Given the description of an element on the screen output the (x, y) to click on. 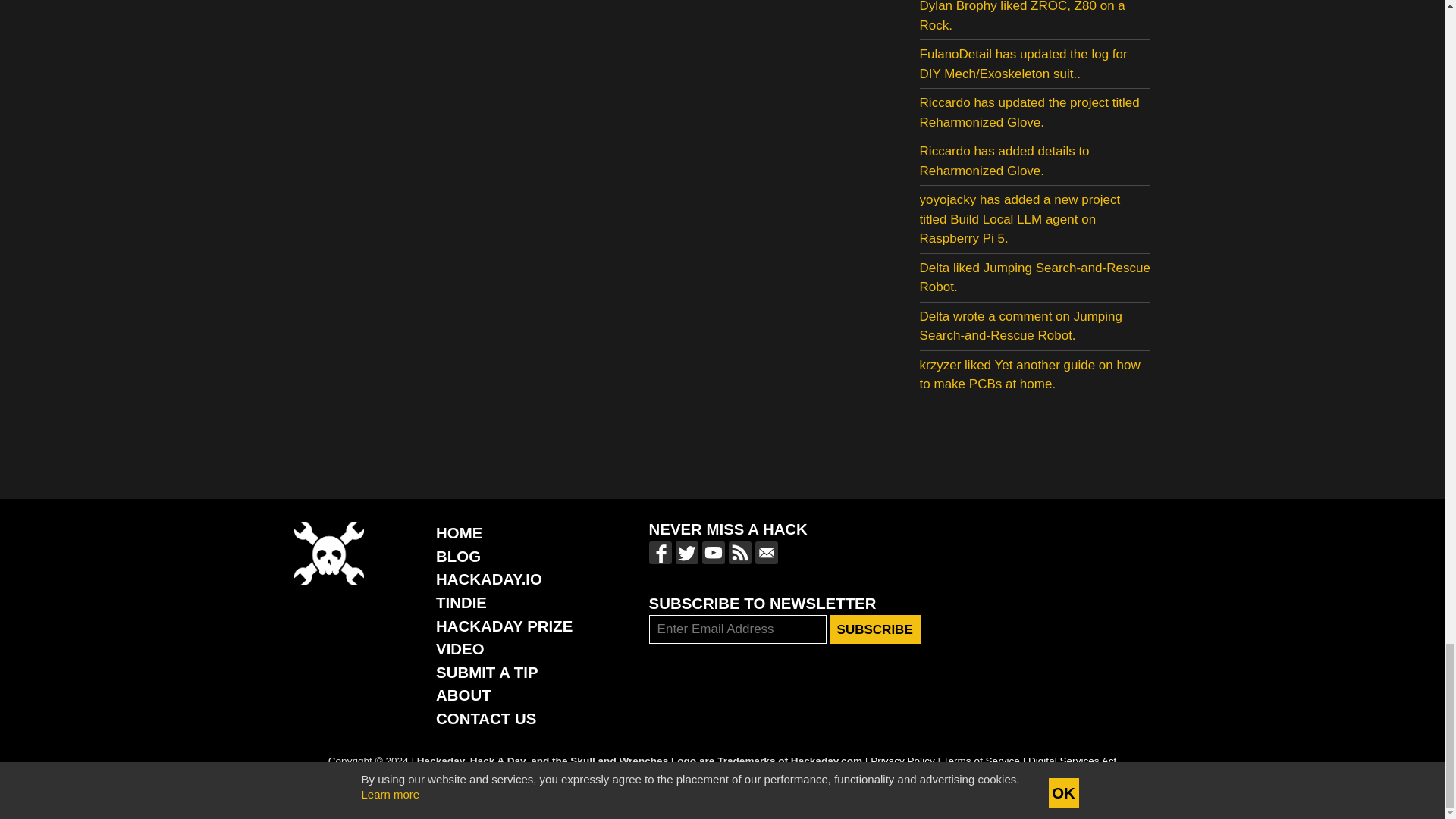
Subscribe (874, 629)
